Given the description of an element on the screen output the (x, y) to click on. 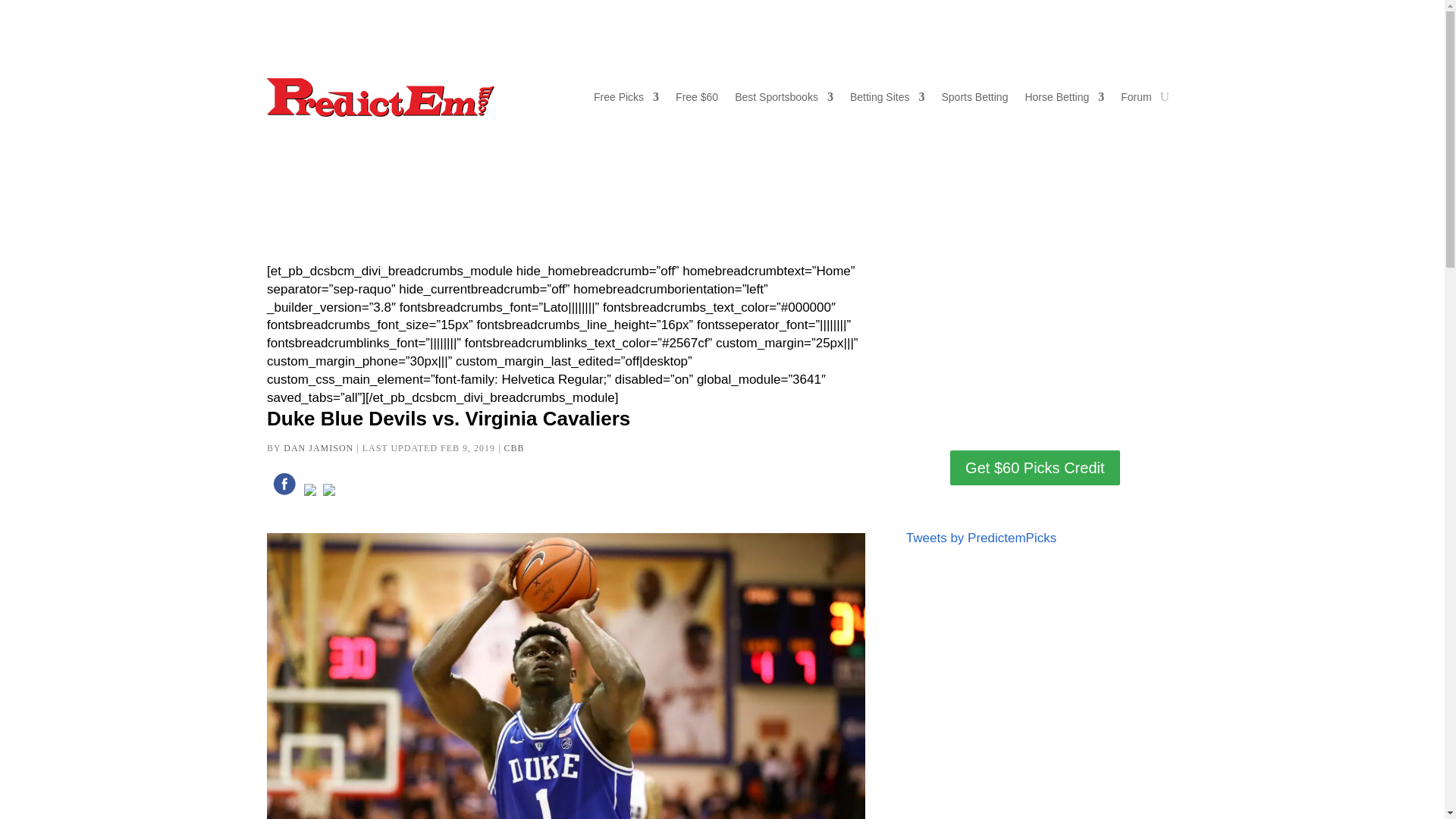
Posts by Dan Jamison (318, 448)
Horse Betting (1064, 96)
Best Sportsbooks (783, 96)
Free Picks (626, 96)
Sports Betting (975, 96)
Betting Sites (887, 96)
